Given the description of an element on the screen output the (x, y) to click on. 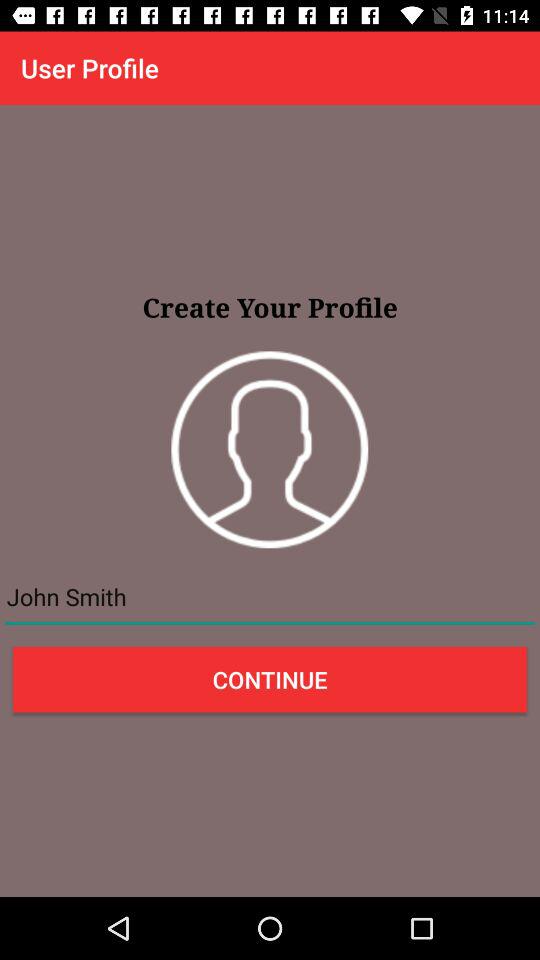
open the item above continue (270, 597)
